Given the description of an element on the screen output the (x, y) to click on. 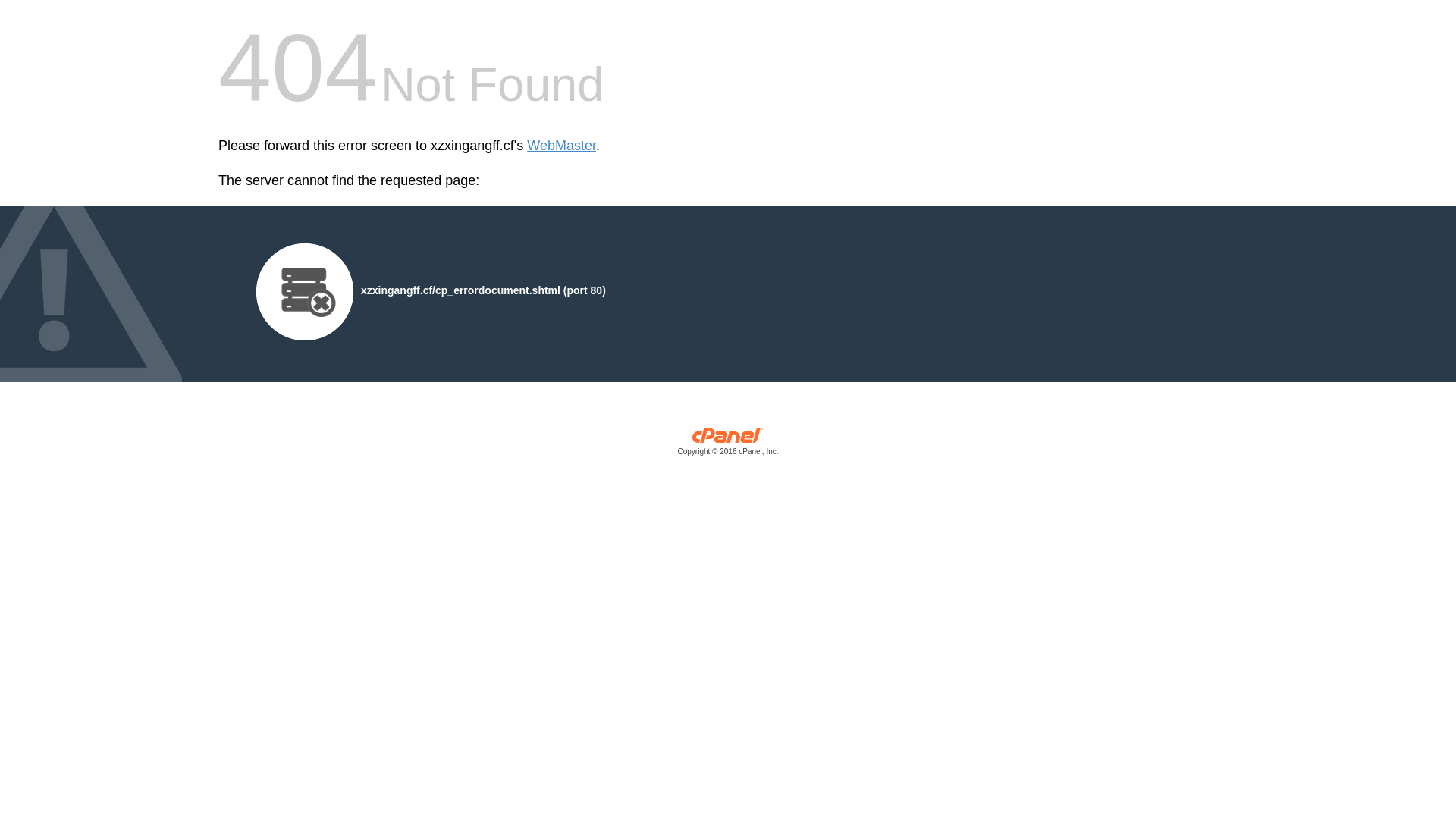
WebMaster Element type: text (561, 145)
